Given the description of an element on the screen output the (x, y) to click on. 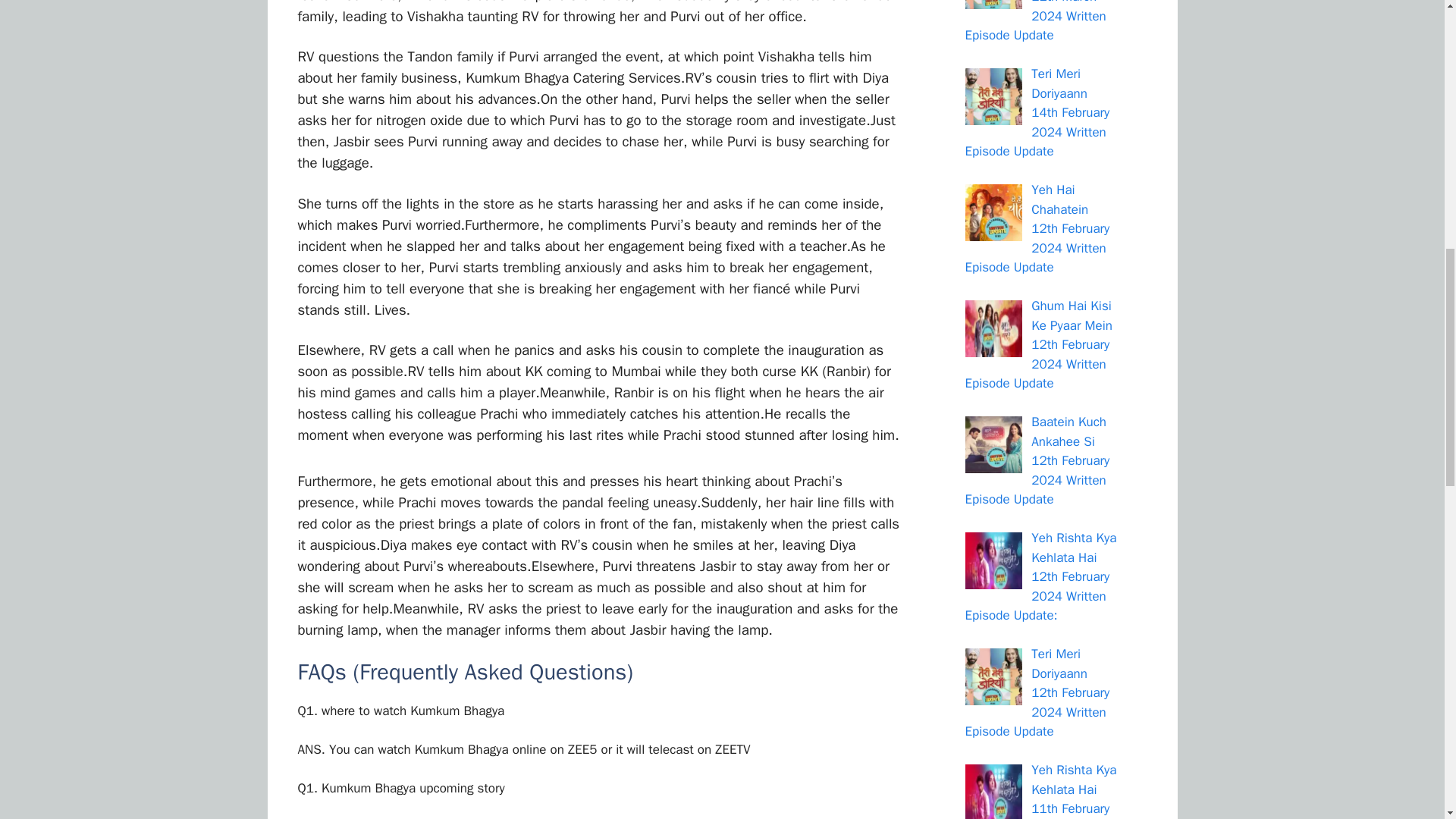
kundali bhagya upcoming story (400, 788)
Scroll back to top (1406, 720)
